Given the description of an element on the screen output the (x, y) to click on. 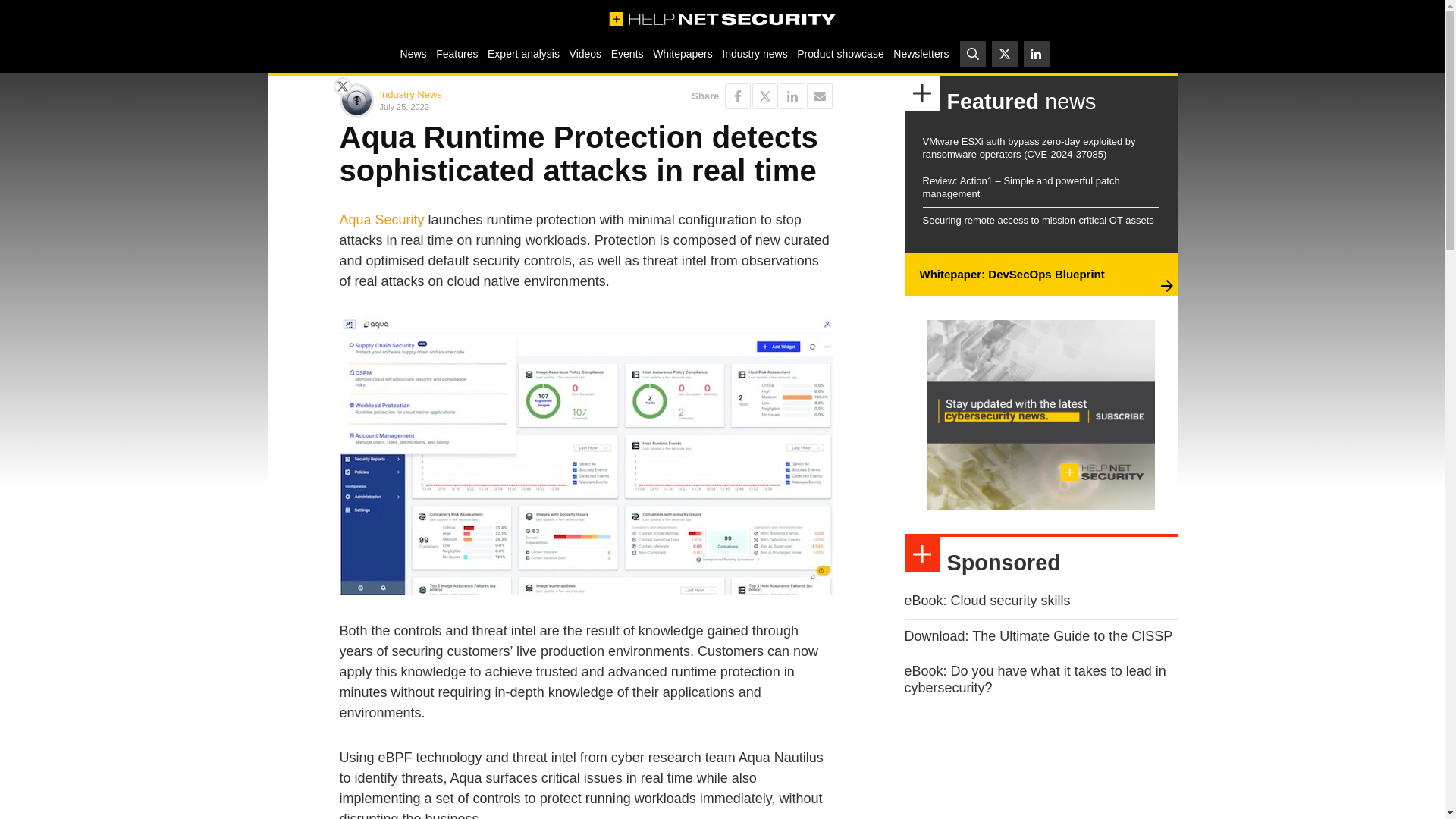
Product showcase (840, 53)
Newsletters (920, 53)
News (412, 53)
Whitepaper: DevSecOps Blueprint (1010, 273)
July 25, 2022 (478, 106)
Videos (584, 53)
Aqua Security (382, 219)
Events (626, 53)
Securing remote access to mission-critical OT assets (1037, 220)
eBook: Do you have what it takes to lead in cybersecurity? (1035, 679)
Securing remote access to mission-critical OT assets (1037, 220)
Features (456, 53)
